Given the description of an element on the screen output the (x, y) to click on. 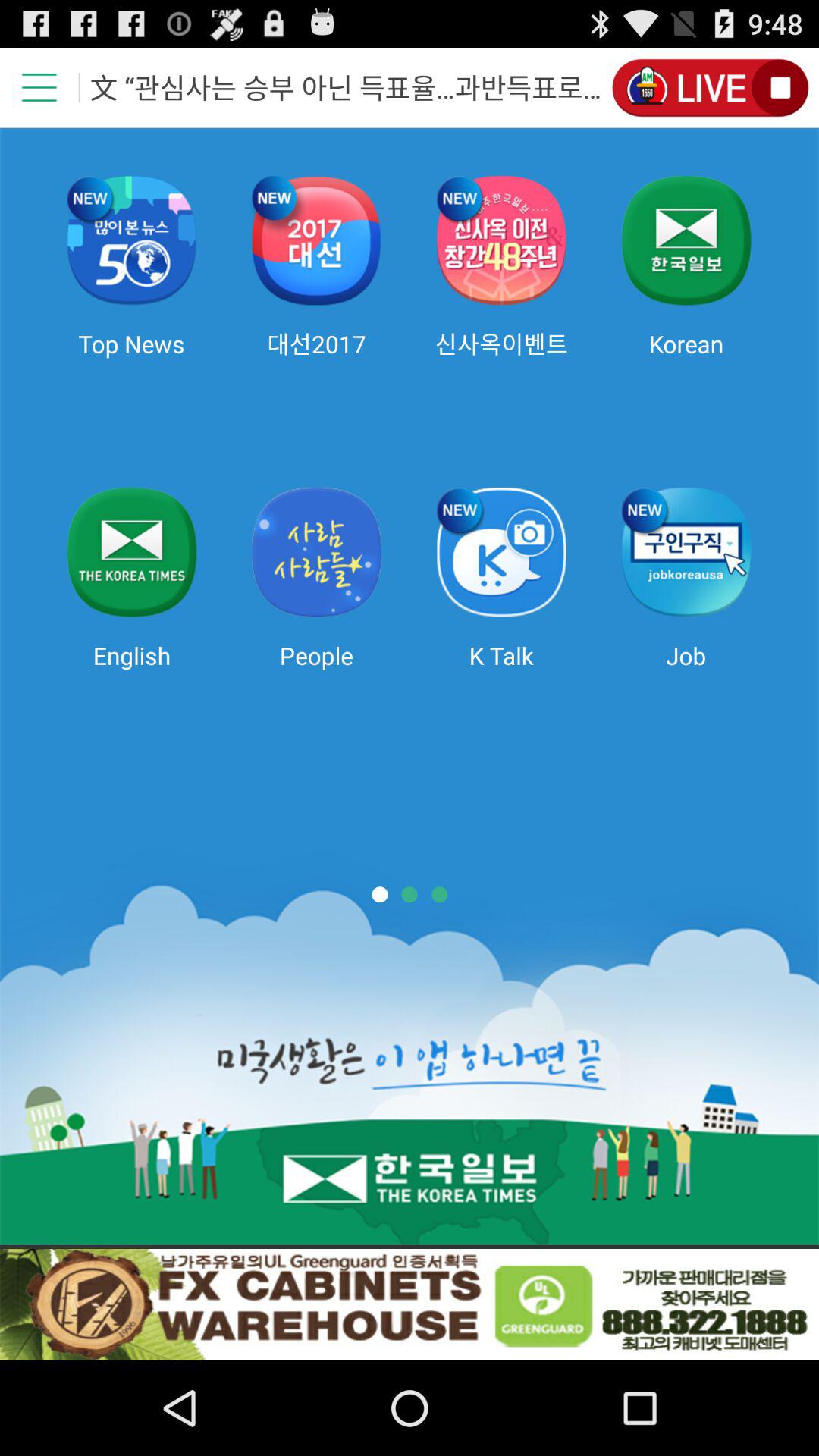
view live (709, 87)
